Given the description of an element on the screen output the (x, y) to click on. 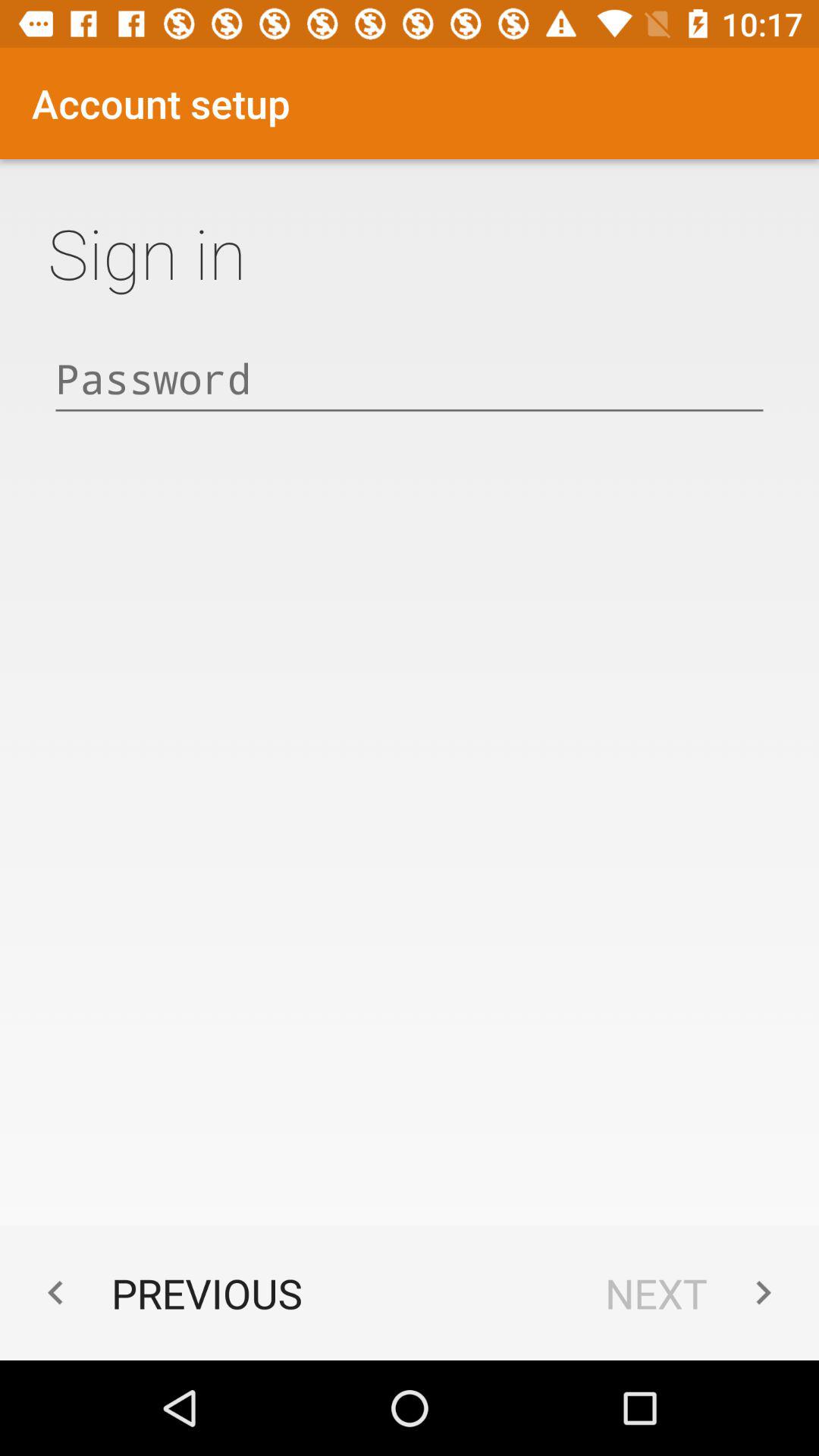
open item next to next icon (166, 1292)
